Given the description of an element on the screen output the (x, y) to click on. 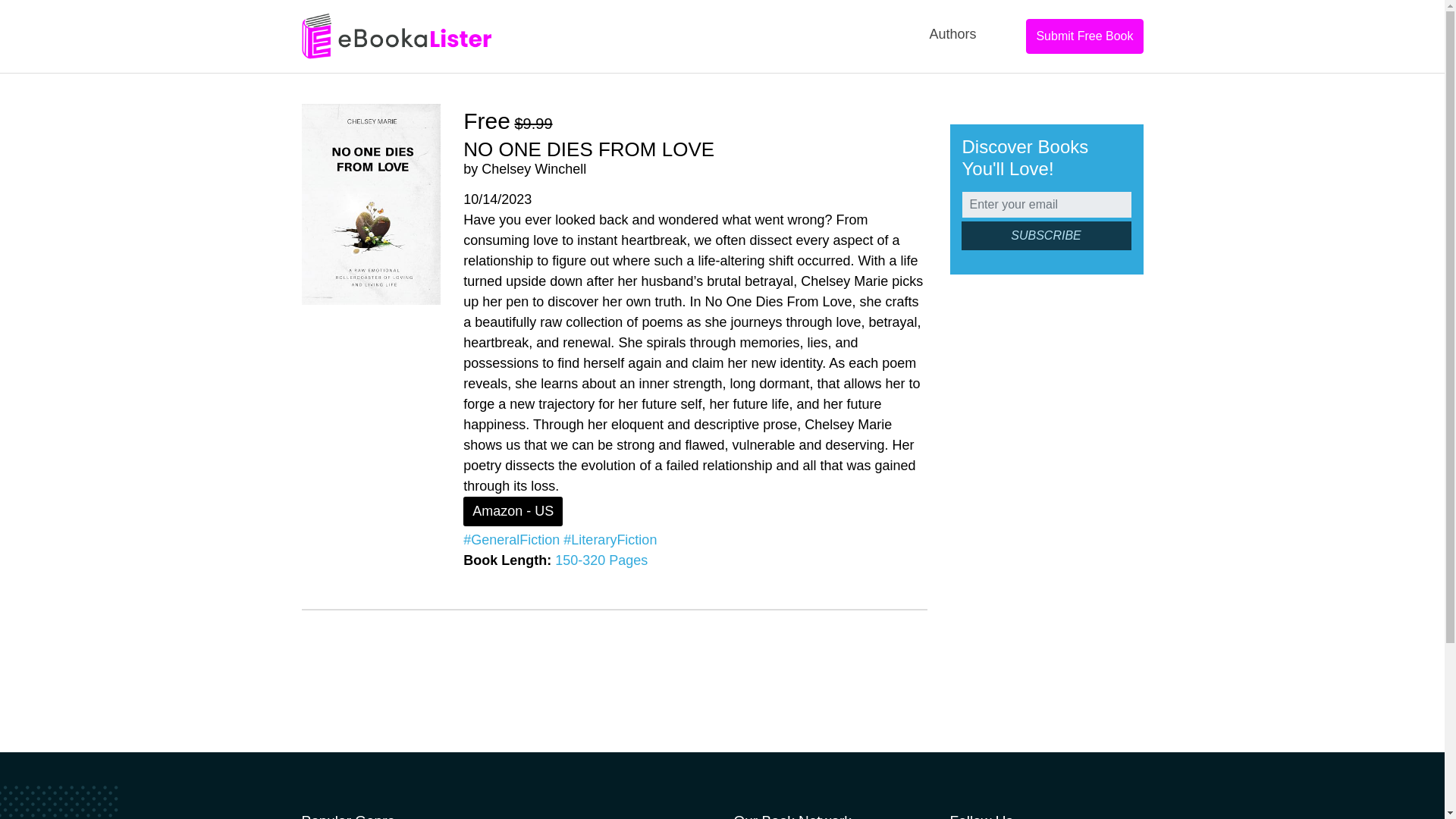
NO ONE DIES FROM LOVE (588, 149)
Submit Free Book (1084, 36)
150-320 Pages (600, 560)
Subscribe (1045, 235)
Amazon - US (512, 511)
Authors (952, 34)
Subscribe (1045, 235)
